Given the description of an element on the screen output the (x, y) to click on. 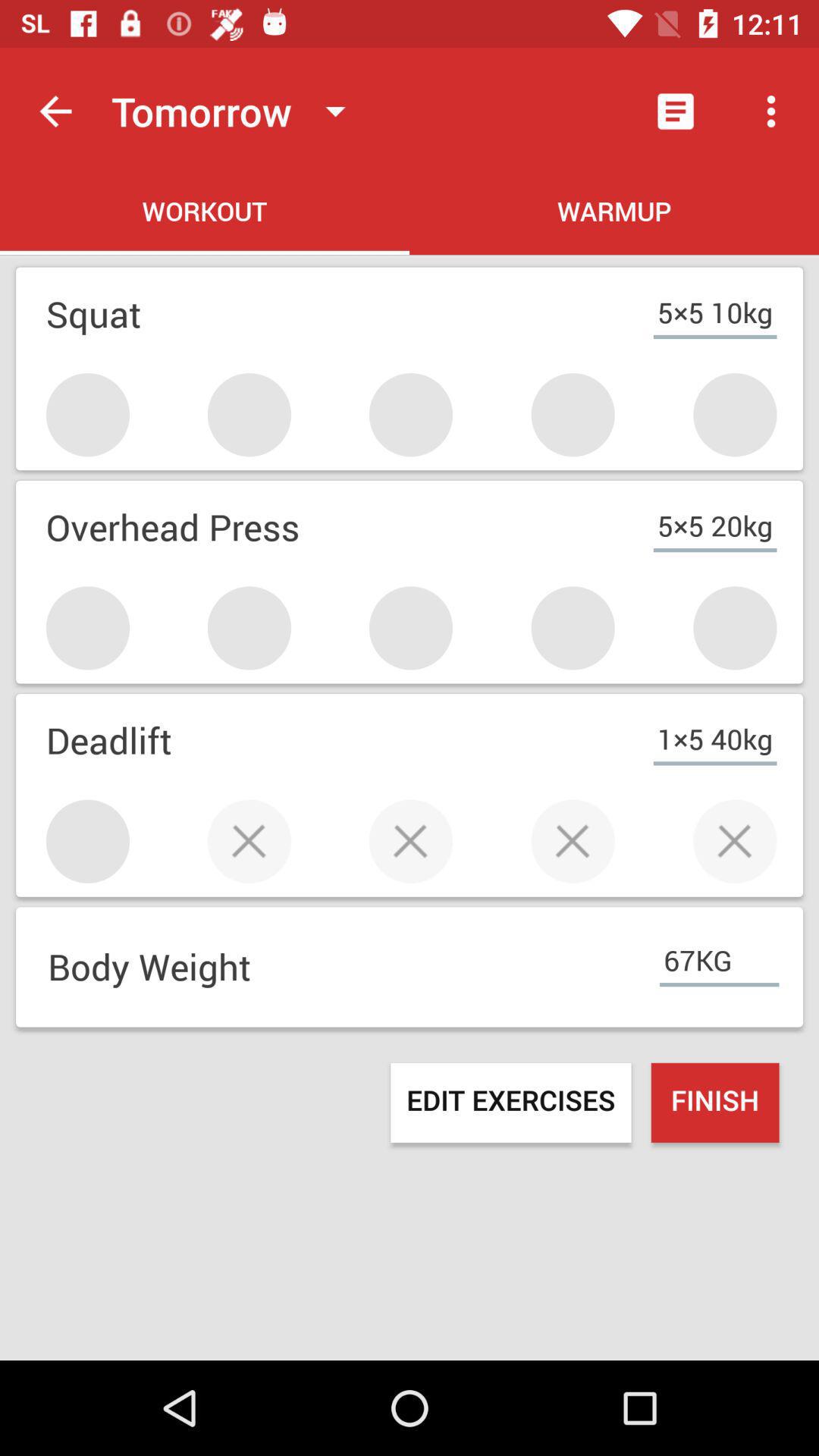
swipe until workout icon (204, 214)
